Given the description of an element on the screen output the (x, y) to click on. 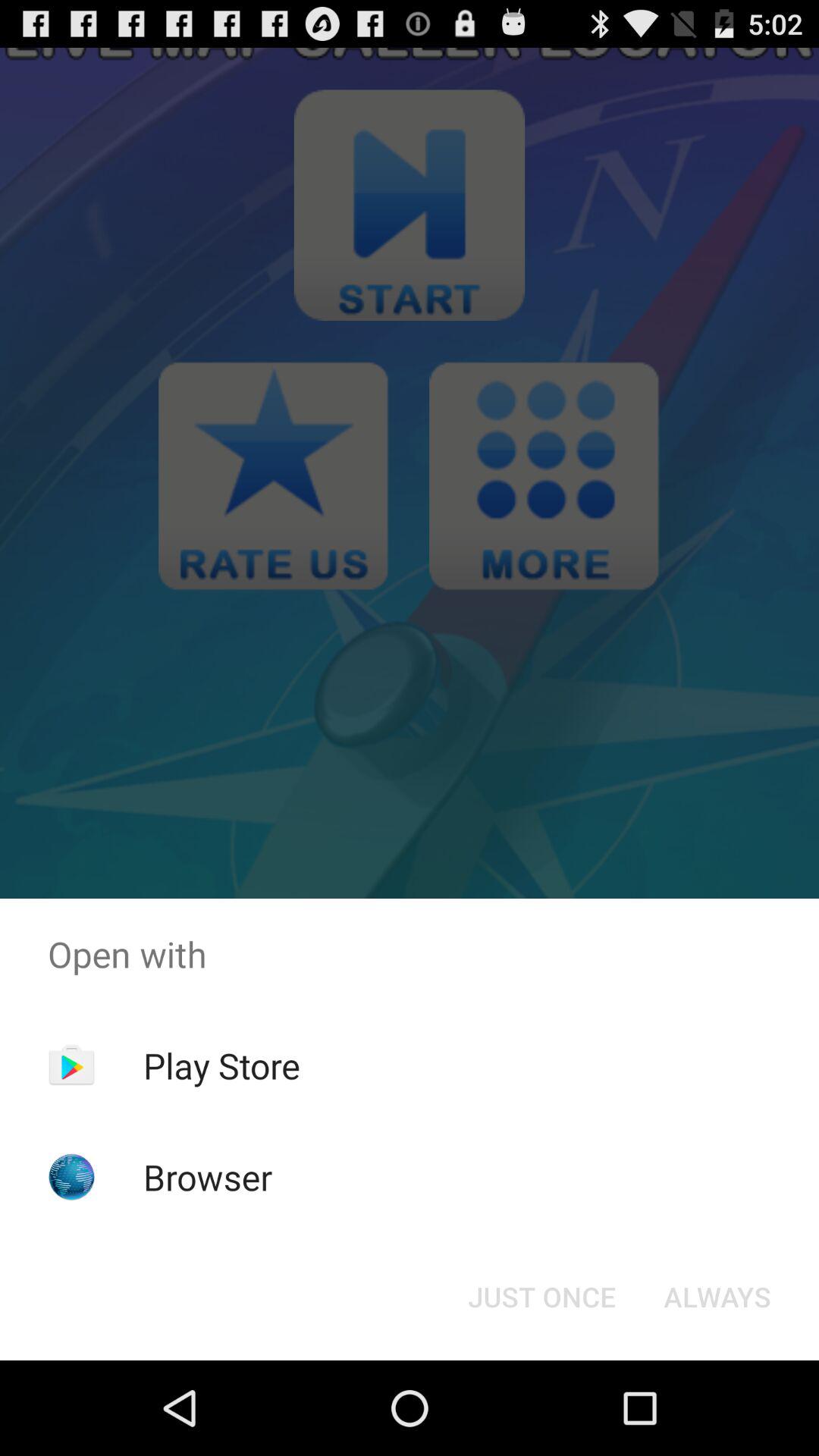
turn on item below play store icon (207, 1176)
